Given the description of an element on the screen output the (x, y) to click on. 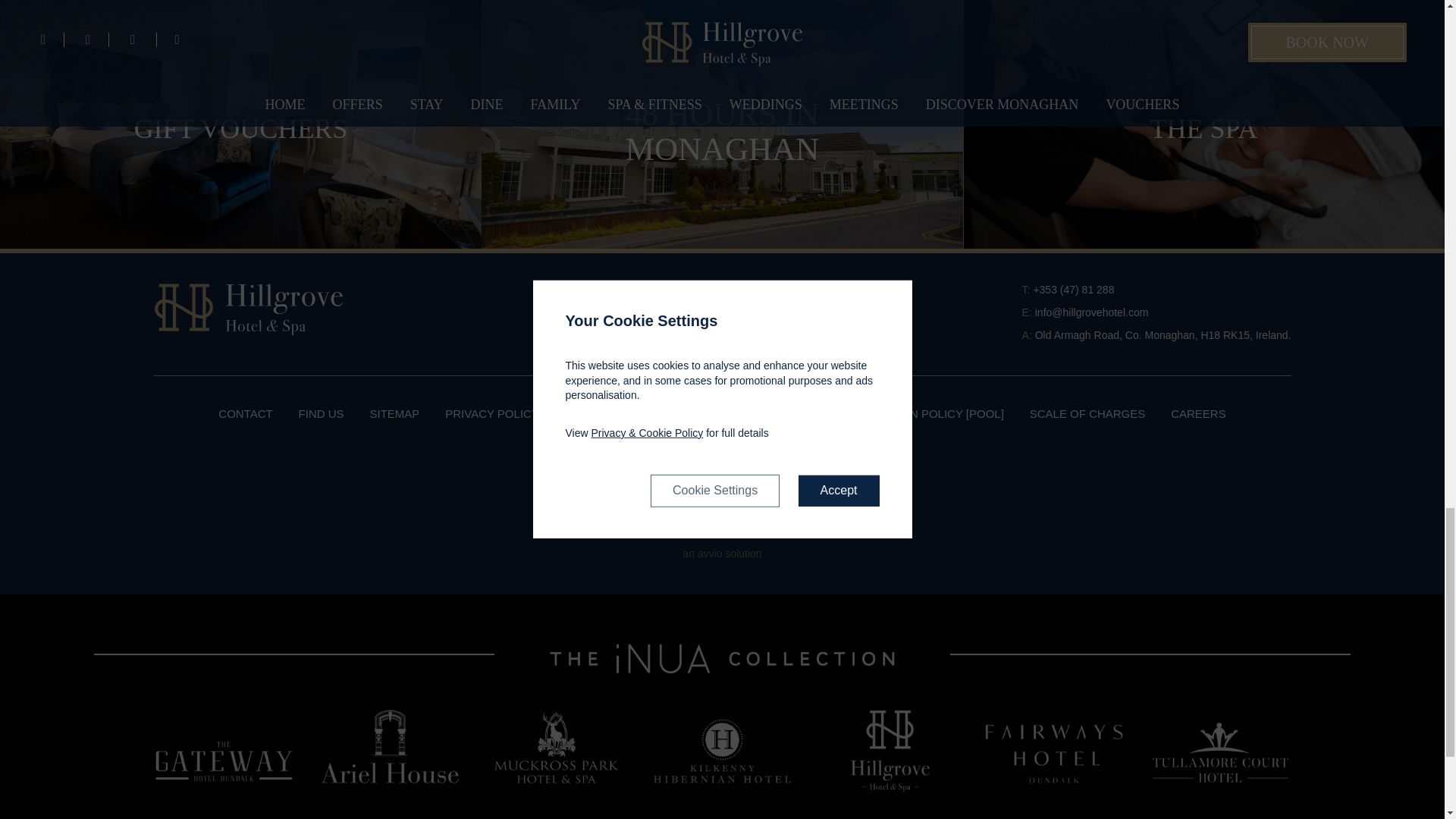
Hotel Engine Booking Provider (721, 553)
